Given the description of an element on the screen output the (x, y) to click on. 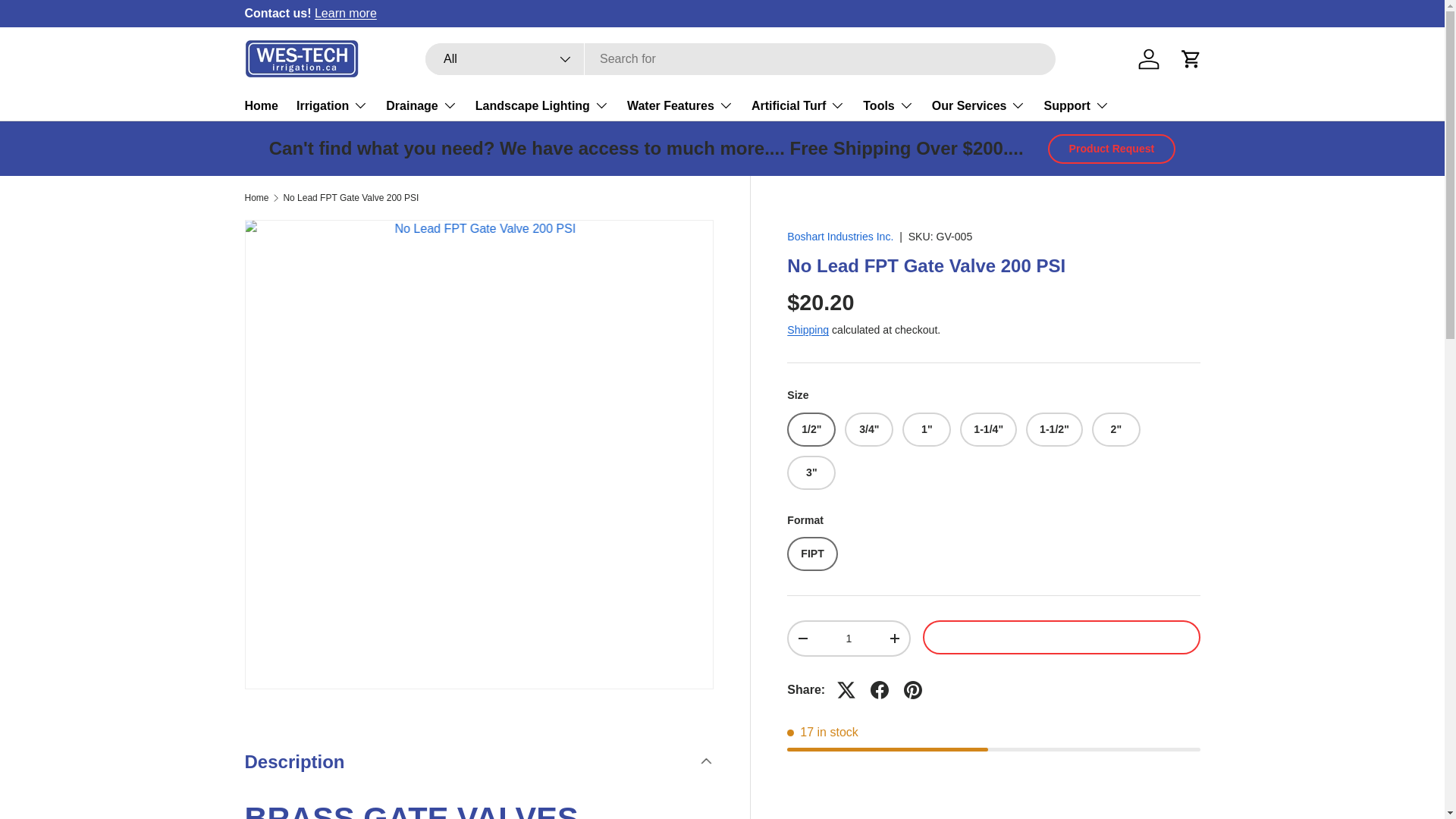
All (505, 59)
Share on Facebook (879, 689)
Tweet on X (846, 689)
tel:250-361-1573 (1278, 12)
Learn more (345, 12)
Irrigation (332, 105)
Skip to content (69, 21)
Contact Us (345, 12)
Log in (1147, 59)
